Given the description of an element on the screen output the (x, y) to click on. 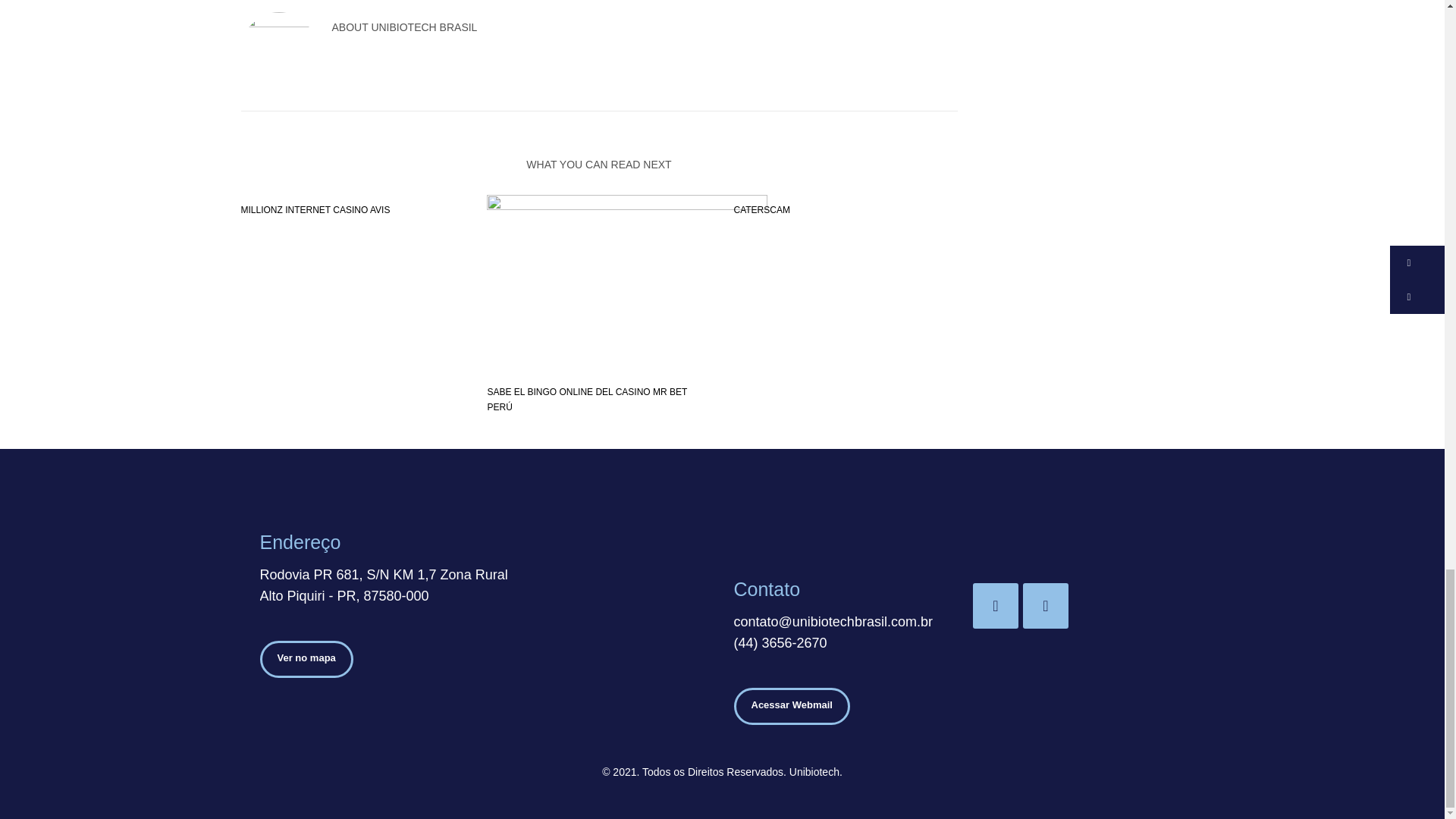
CATERSCAM (761, 209)
MILLIONZ INTERNET CASINO AVIS (315, 209)
Acessar Webmail (791, 705)
Ver no mapa (305, 659)
Webmail (791, 705)
